Given the description of an element on the screen output the (x, y) to click on. 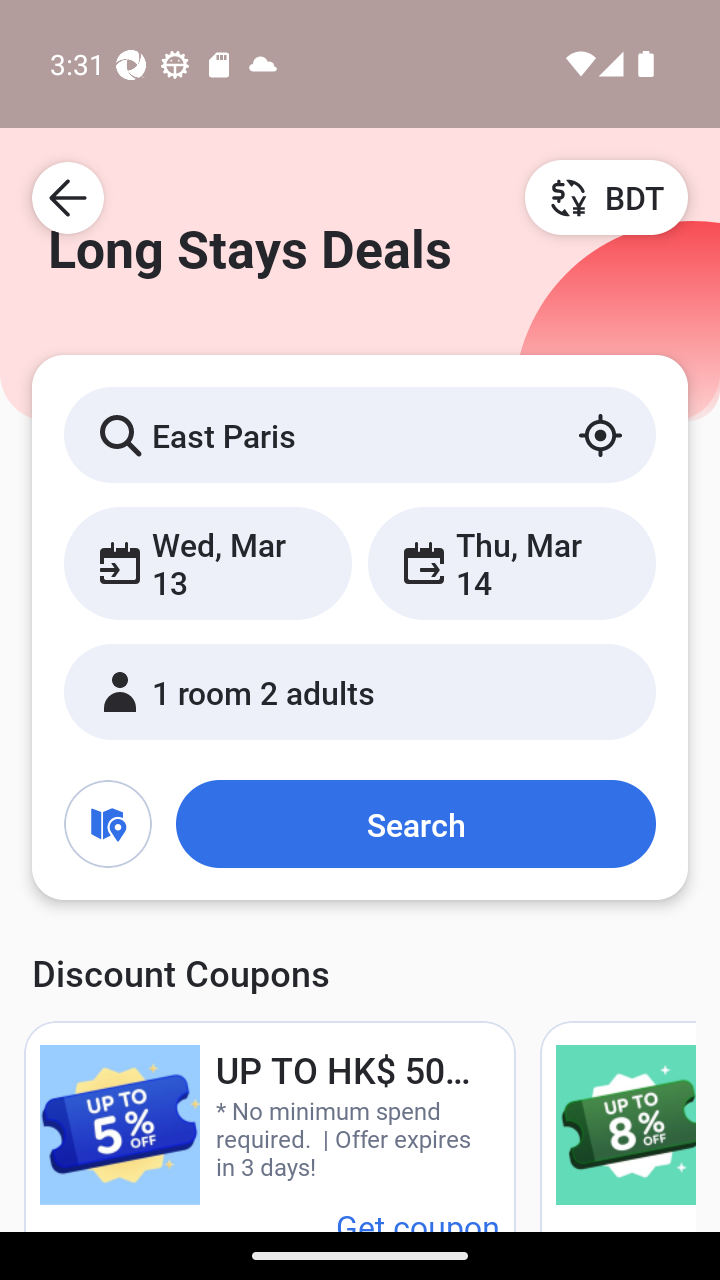
BDT (606, 197)
East Paris (359, 434)
Wed, Mar 13 (208, 562)
Thu, Mar 14 (511, 562)
1 room 2 adults (359, 691)
Search (415, 823)
